Given the description of an element on the screen output the (x, y) to click on. 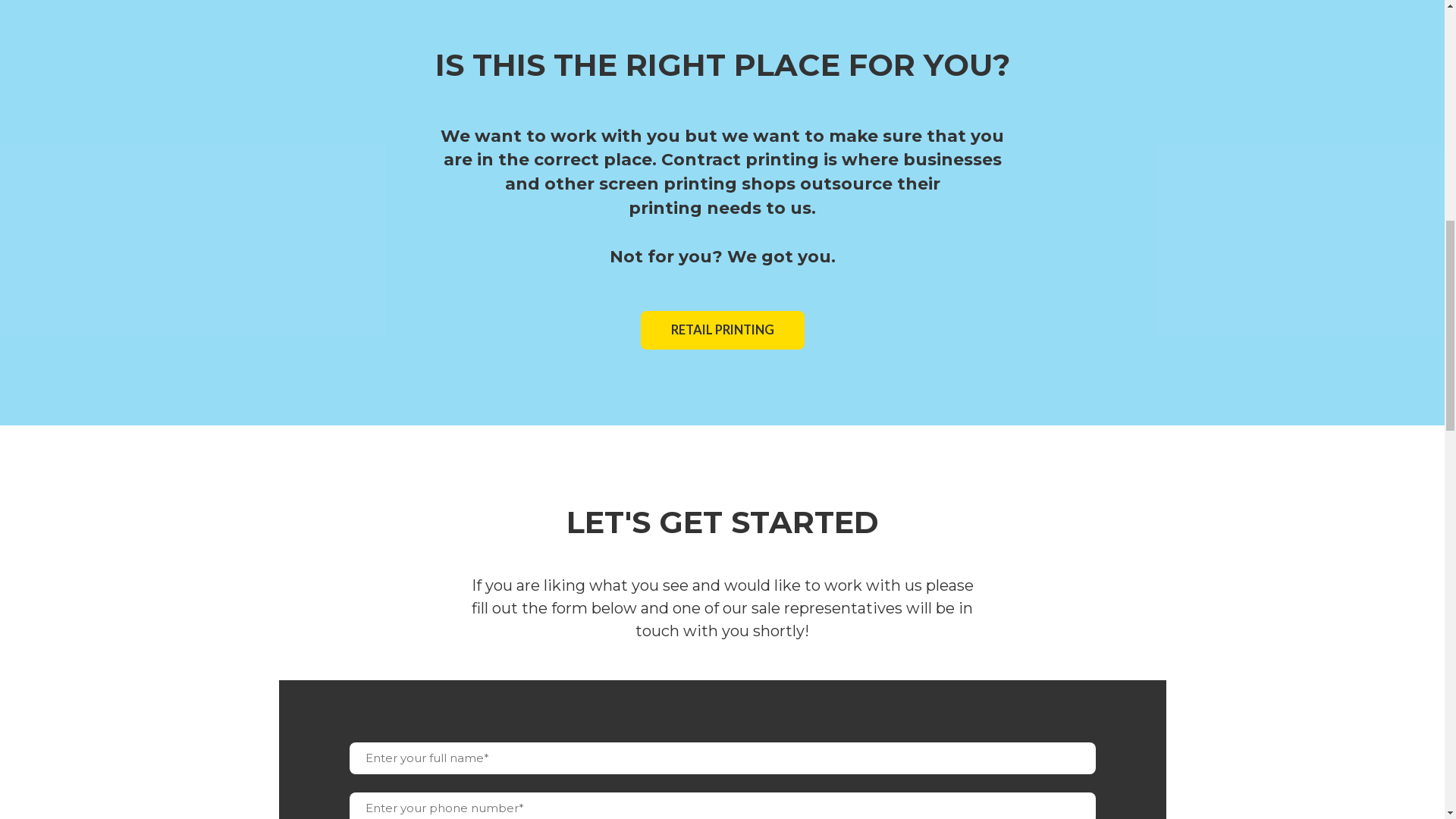
RETAIL PRINTING (721, 330)
